Given the description of an element on the screen output the (x, y) to click on. 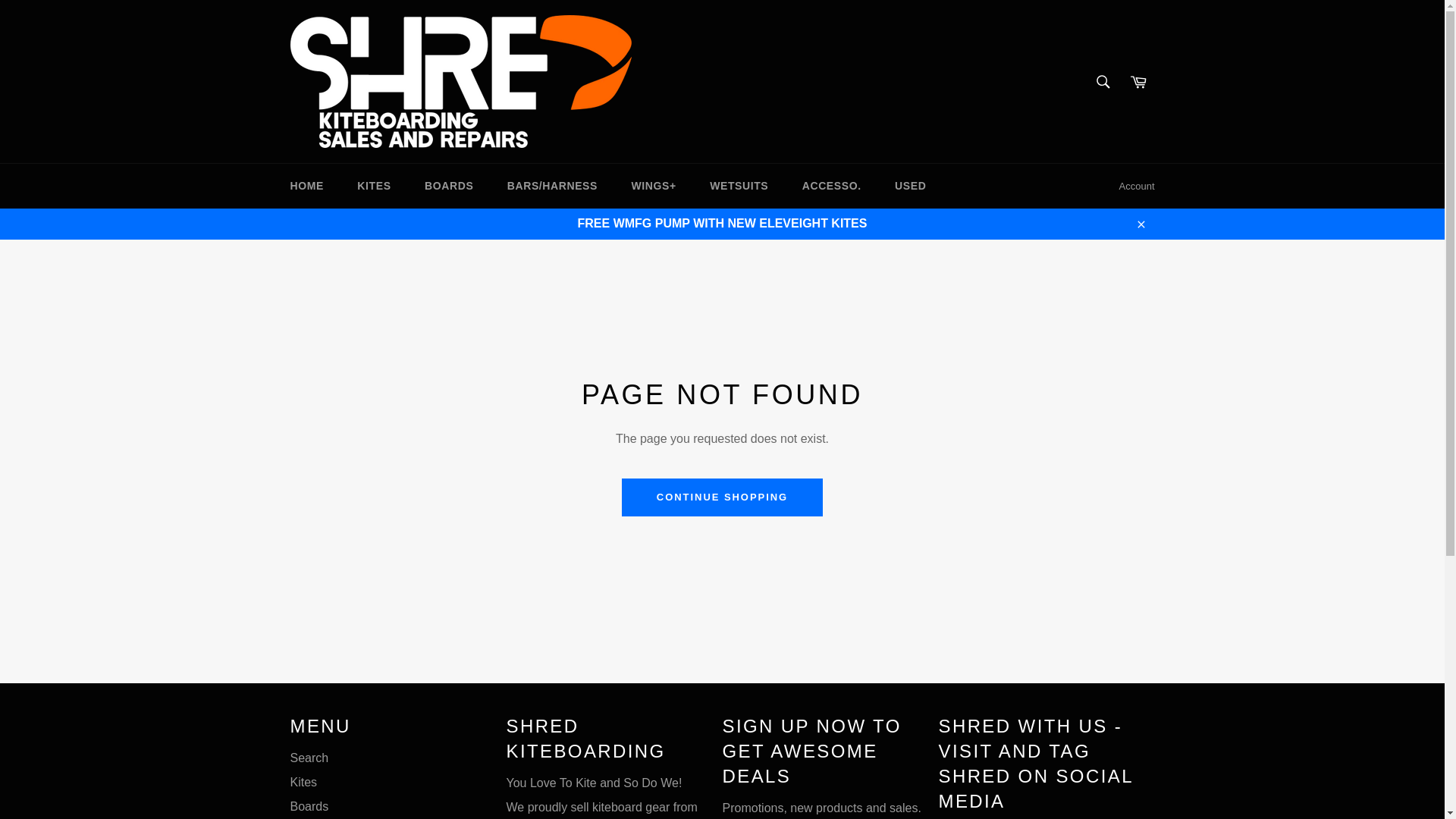
HOME (306, 185)
USED (909, 185)
Kites (303, 781)
Account (1136, 186)
CONTINUE SHOPPING (721, 497)
Search (309, 757)
Cart (1138, 81)
BOARDS (448, 185)
FREE WMFG PUMP WITH NEW ELEVEIGHT KITES (722, 223)
Close (1139, 223)
WETSUITS (738, 185)
KITES (374, 185)
Boards (309, 806)
ACCESSO. (831, 185)
Search (1101, 81)
